Given the description of an element on the screen output the (x, y) to click on. 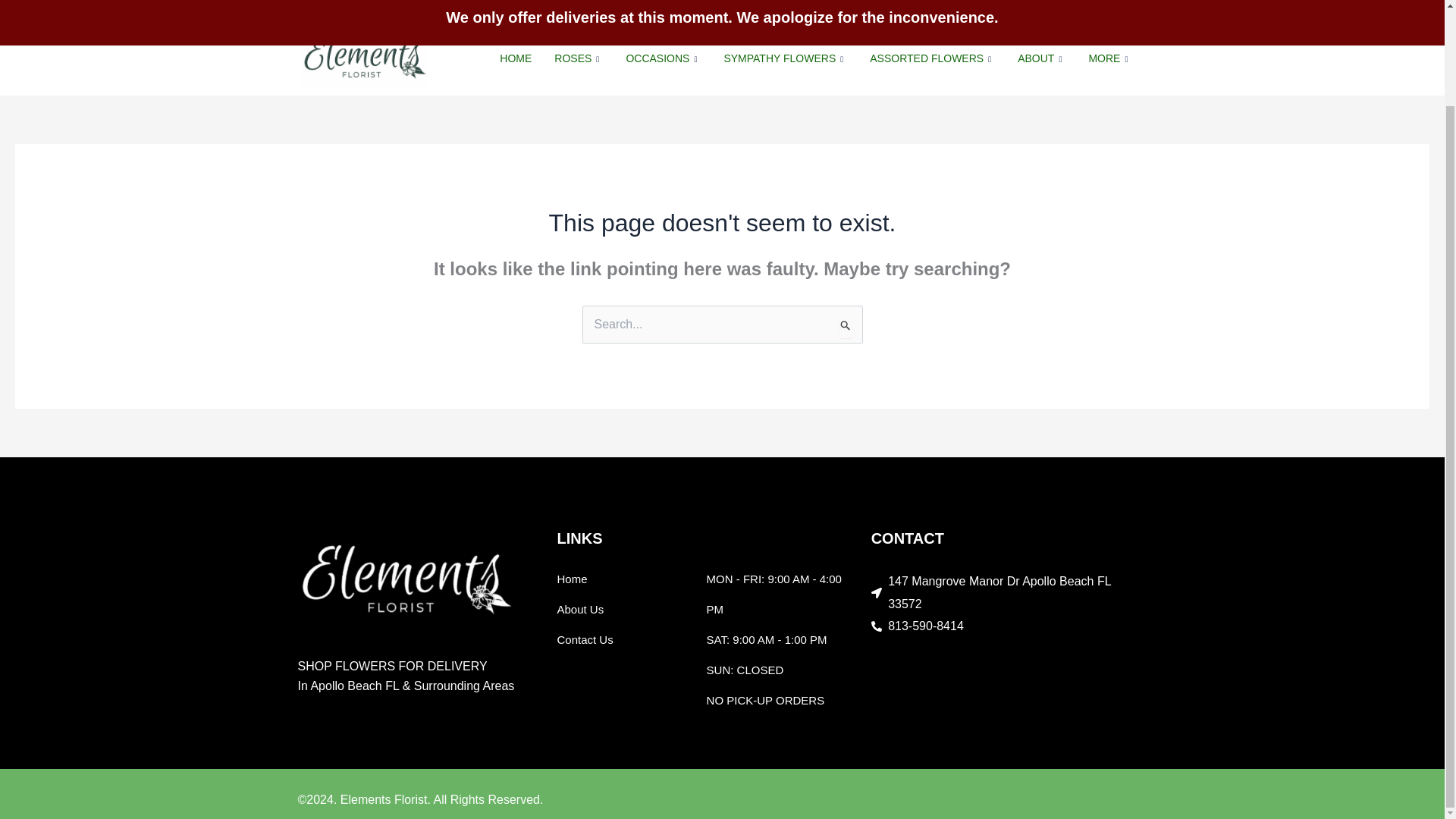
ABOUT (1041, 58)
MORE (1109, 58)
OCCASIONS (662, 58)
SYMPATHY FLOWERS (785, 58)
ASSORTED FLOWERS (932, 58)
HOME (515, 58)
ROSES (578, 58)
